Given the description of an element on the screen output the (x, y) to click on. 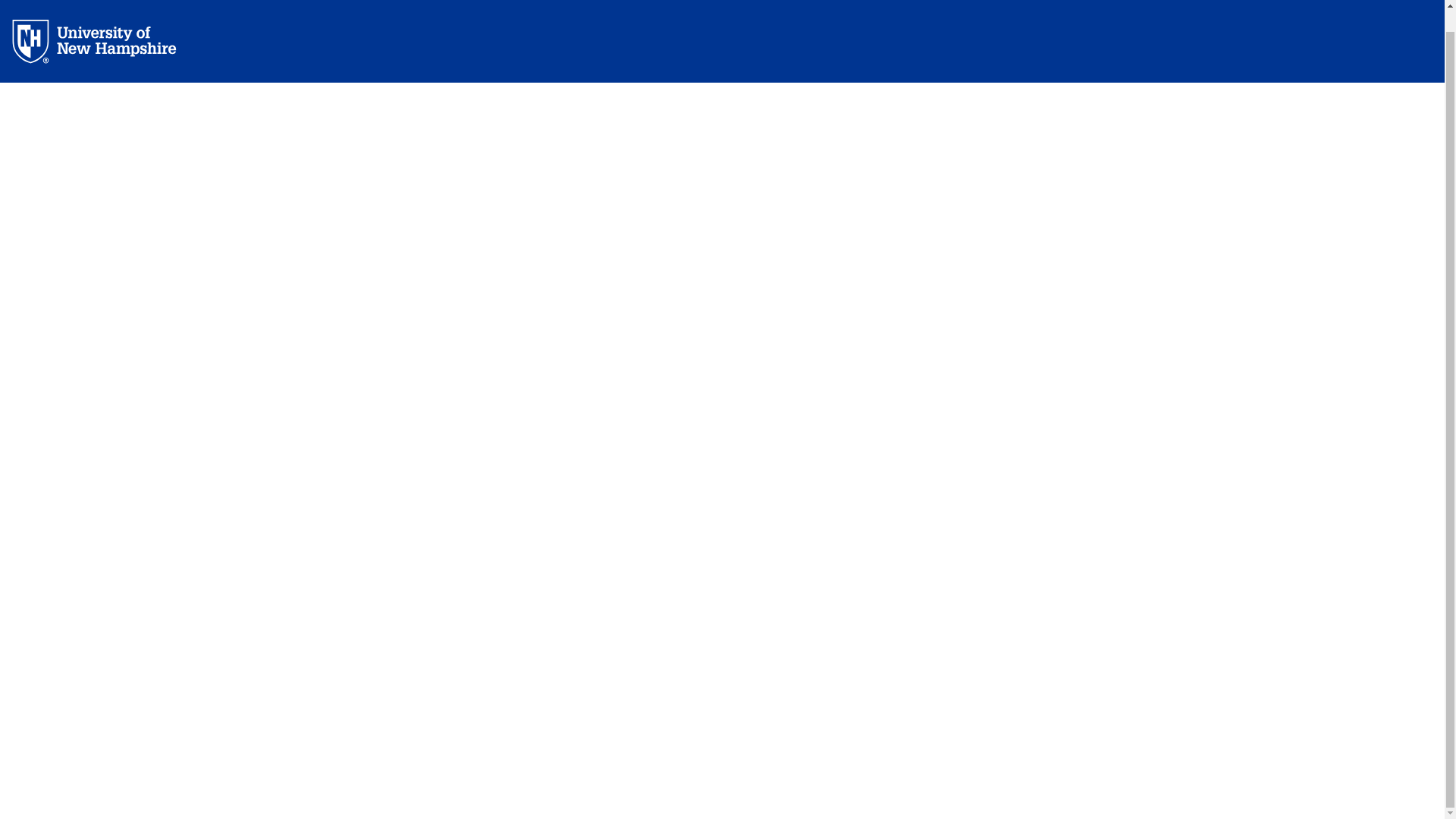
University of New Hampshire (105, 40)
